Given the description of an element on the screen output the (x, y) to click on. 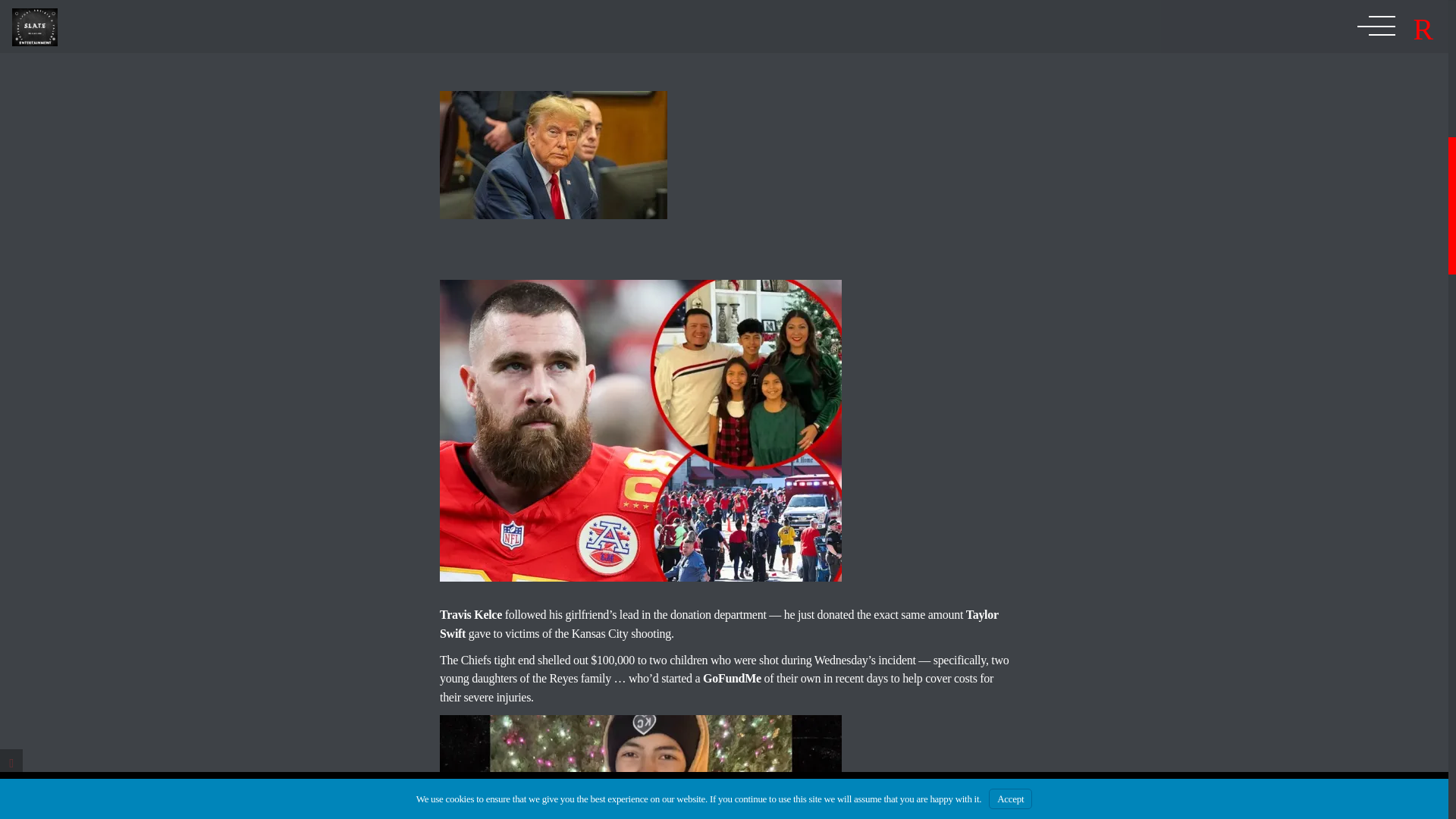
Taylor Swift (718, 623)
Travis Kelce (470, 614)
GoFundMe (732, 677)
